Given the description of an element on the screen output the (x, y) to click on. 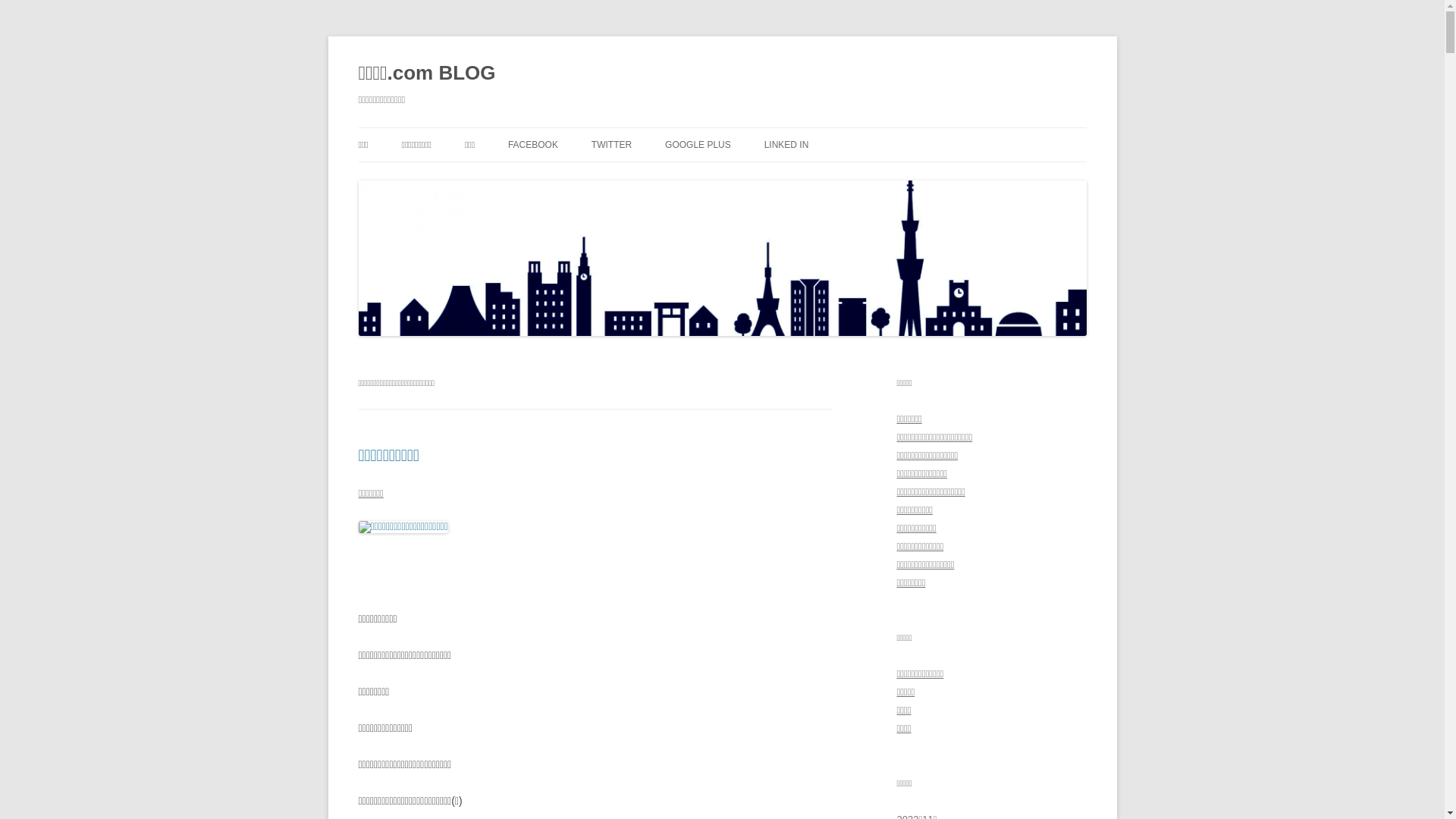
FACEBOOK Element type: text (533, 144)
LINKED IN Element type: text (786, 144)
GOOGLE PLUS Element type: text (698, 144)
TWITTER Element type: text (611, 144)
